Given the description of an element on the screen output the (x, y) to click on. 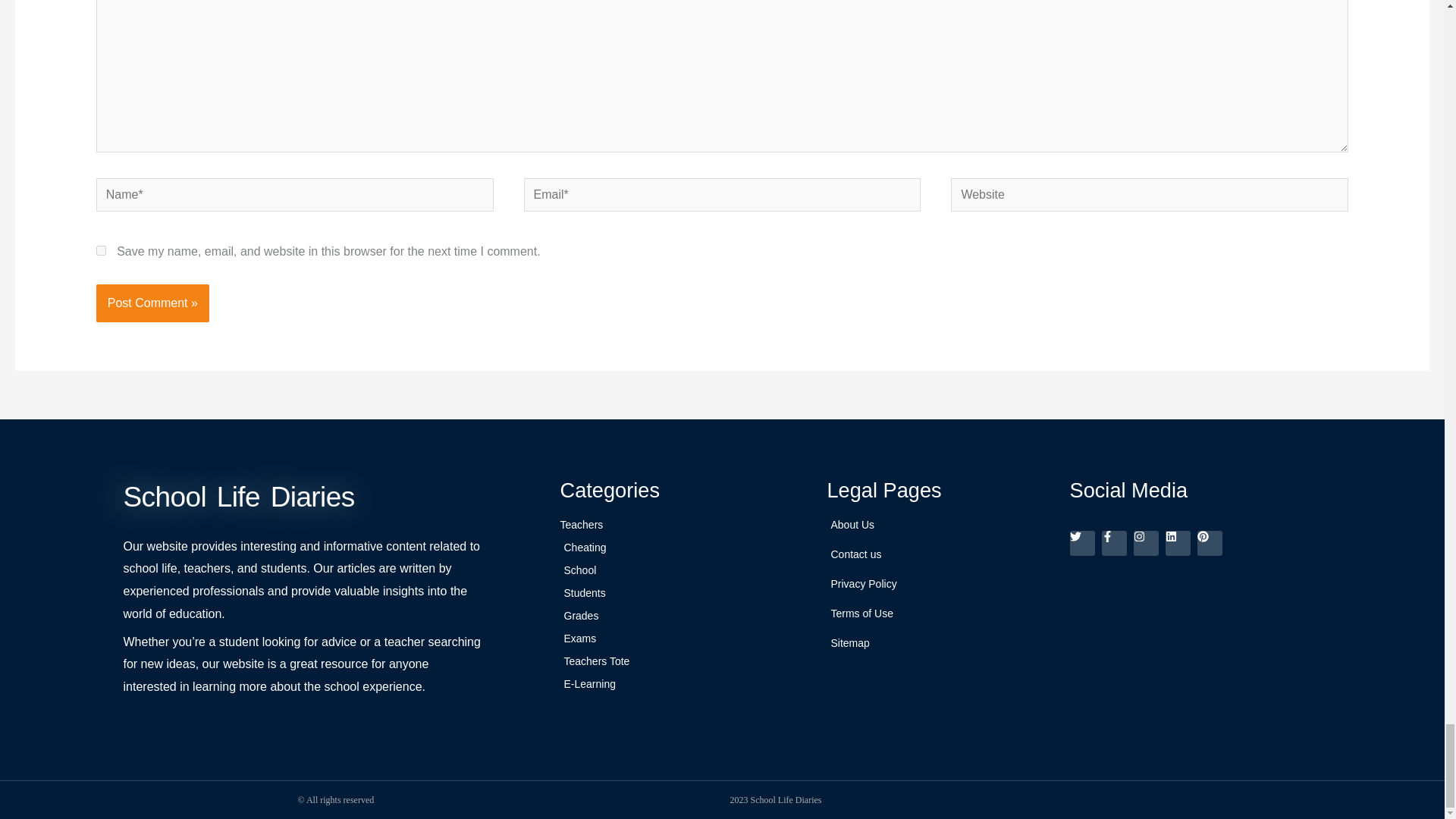
yes (101, 250)
